Given the description of an element on the screen output the (x, y) to click on. 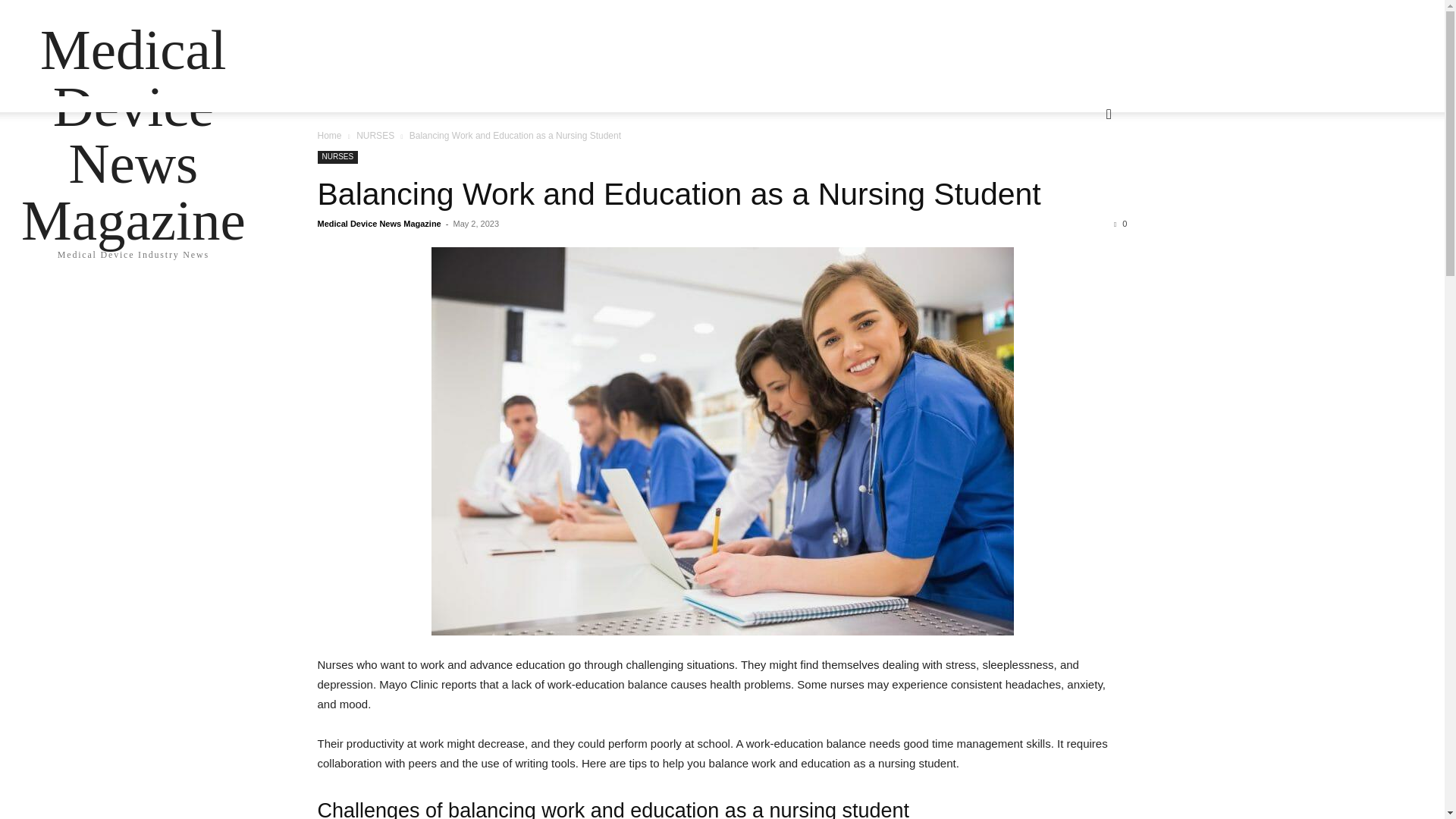
Search (1085, 174)
Medical Device News Magazine (379, 223)
NURSES (375, 135)
Medical Device News Magazine (133, 134)
View all posts in NURSES (375, 135)
Home (328, 135)
0 (1119, 223)
Balancing Work and Education as a Nursing Student (679, 193)
Balancing Work and Education as a Nursing Student (679, 193)
NURSES (337, 156)
